Given the description of an element on the screen output the (x, y) to click on. 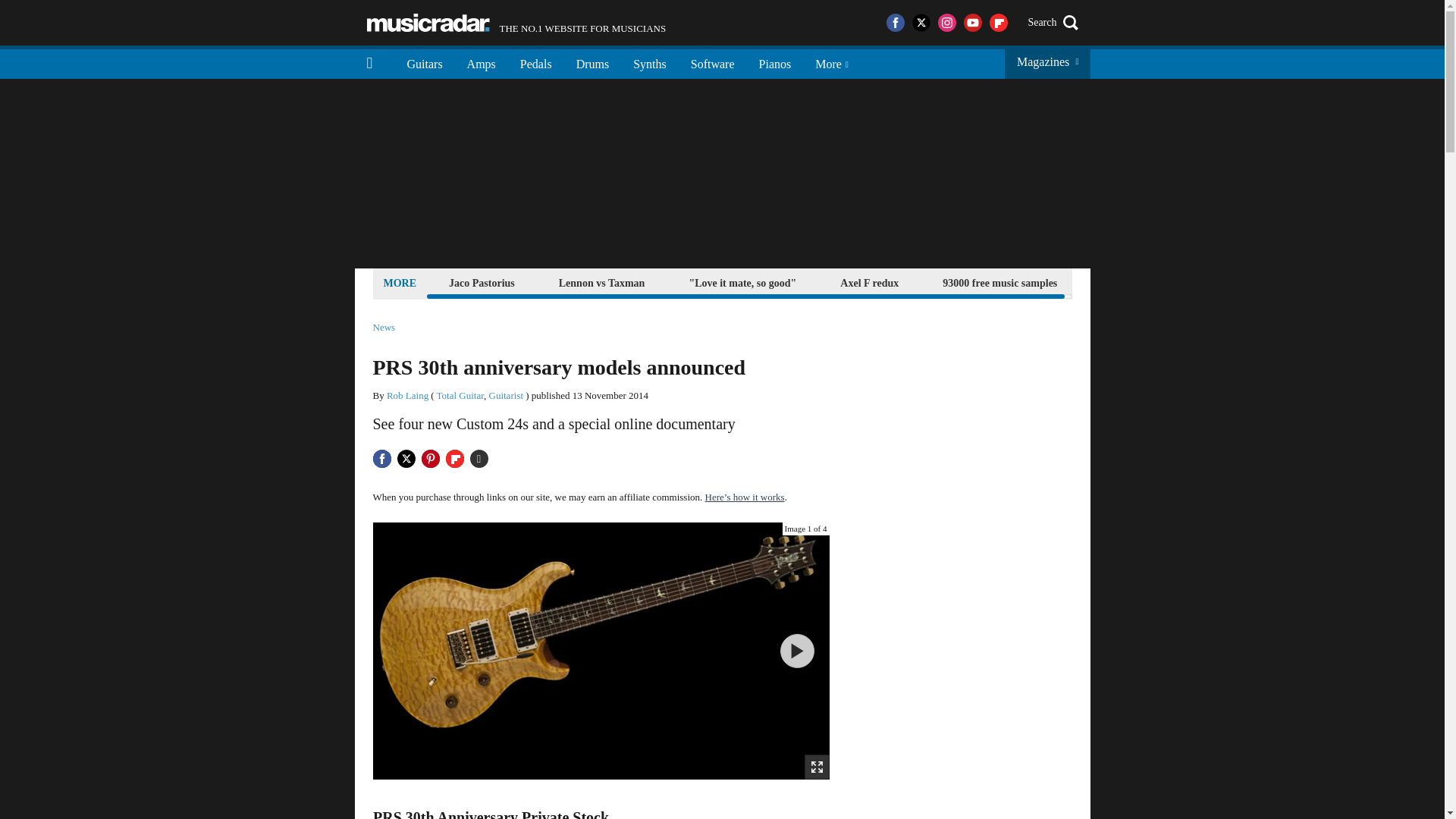
Lennon vs Taxman (601, 282)
Amps (481, 61)
News (384, 327)
Drums (592, 61)
Axel F redux (869, 282)
"Love it mate, so good" (742, 282)
Guitars (424, 61)
Music Radar (427, 22)
Jaco Pastorius (481, 282)
Synths (649, 61)
Pedals (536, 61)
Software (712, 61)
Pianos (774, 61)
93000 free music samples (516, 22)
